Given the description of an element on the screen output the (x, y) to click on. 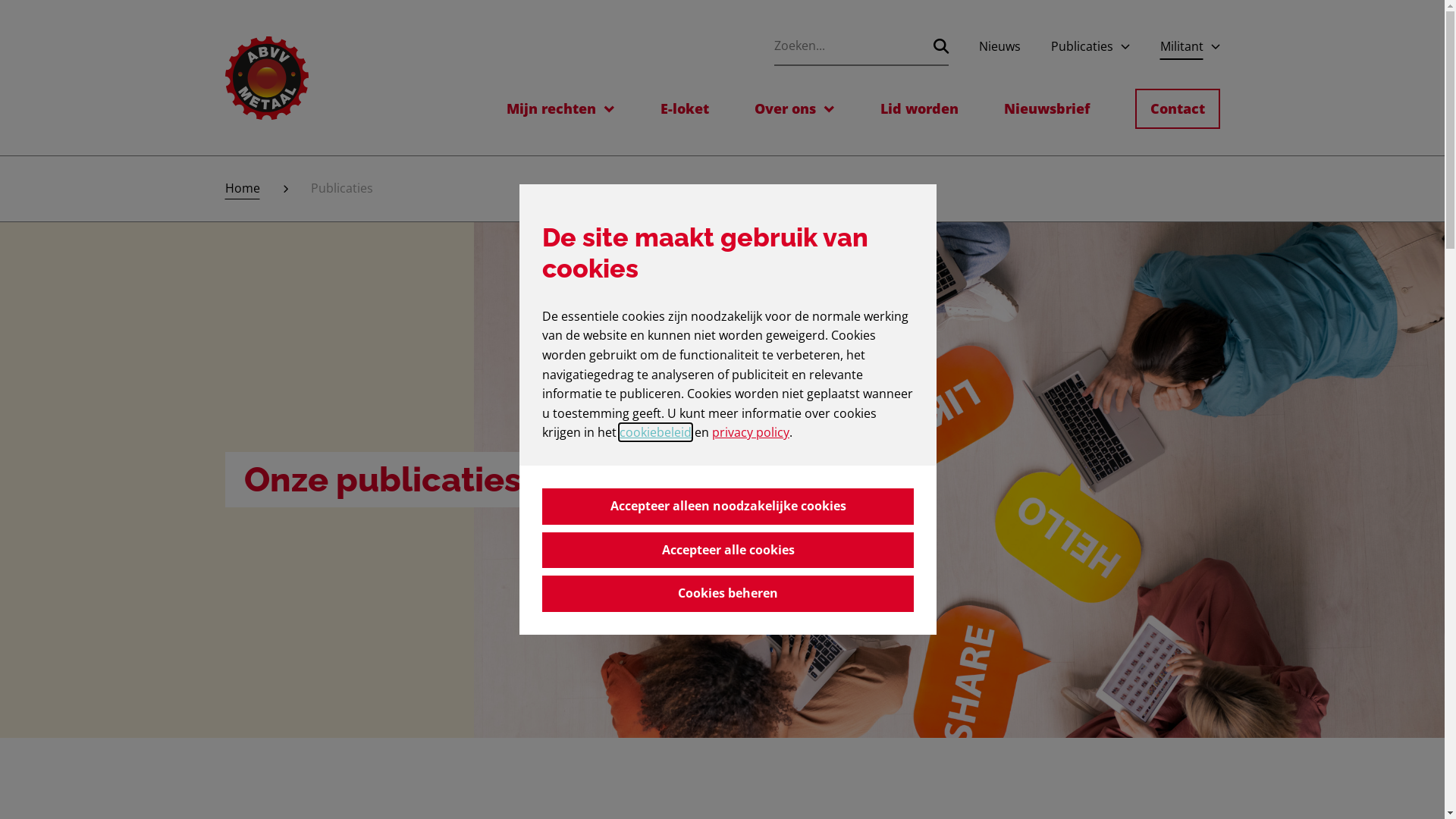
Cookies beheren Element type: text (727, 593)
Mijn rechten Element type: text (551, 108)
privacy policy Element type: text (750, 431)
Militant Element type: text (1181, 46)
Over ons Element type: text (784, 108)
Nieuws Element type: text (998, 46)
Zoeken Element type: text (939, 45)
Accepteer alleen noodzakelijke cookies Element type: text (727, 506)
Accepteer alle cookies Element type: text (727, 550)
Overslaan en naar de inhoud gaan Element type: text (0, 0)
Lid worden Element type: text (918, 108)
Nieuwsbrief Element type: text (1046, 108)
E-loket Element type: text (683, 108)
Home Element type: text (241, 188)
cookiebeleid Element type: text (655, 431)
Home Element type: hover (265, 77)
Publicaties Element type: text (1082, 46)
Contact Element type: text (1176, 108)
